Given the description of an element on the screen output the (x, y) to click on. 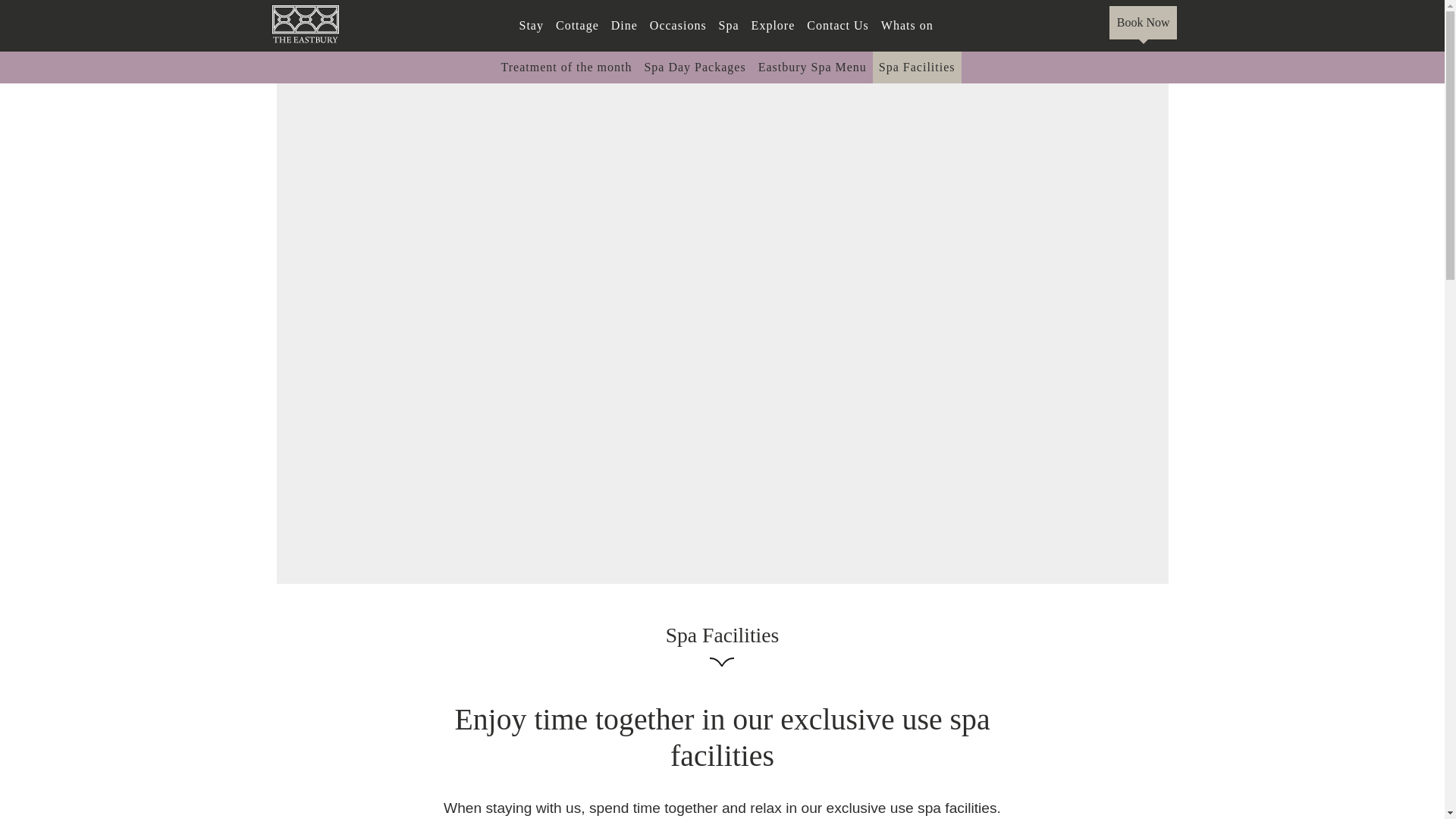
Contact Us (837, 25)
Dine (624, 25)
Whats on (907, 25)
Explore (773, 25)
Spa Facilities (916, 67)
Book Now (1143, 22)
Cottage (577, 25)
Occasions (678, 25)
Eastbury Spa Menu (812, 67)
Spa (729, 25)
Stay (531, 25)
Treatment of the month (566, 67)
Spa Day Packages (694, 67)
